Given the description of an element on the screen output the (x, y) to click on. 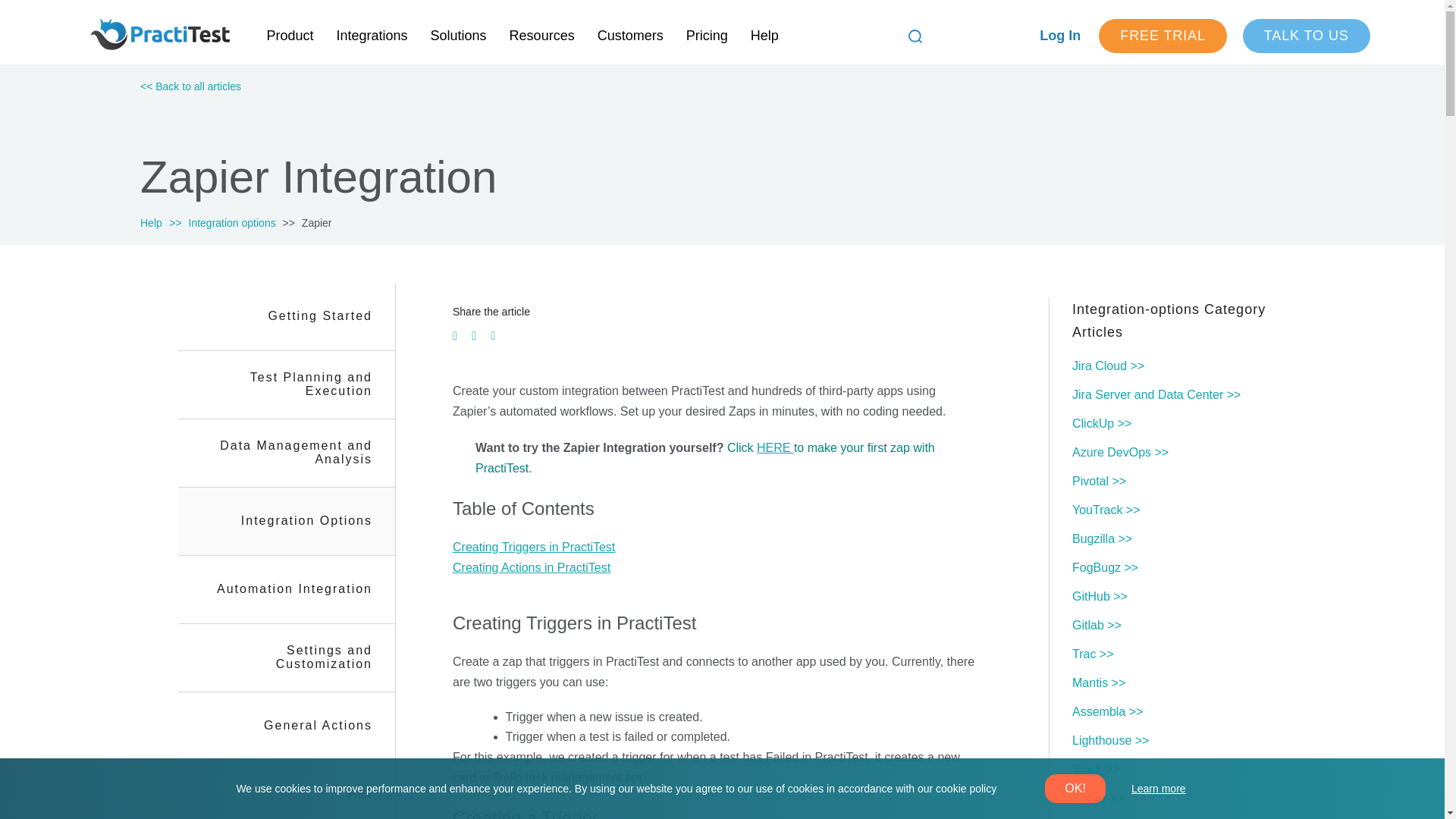
Solutions (458, 35)
Integrations (371, 35)
Resources (541, 35)
Demo (1306, 35)
Free Trial (1163, 35)
Product (289, 35)
